Given the description of an element on the screen output the (x, y) to click on. 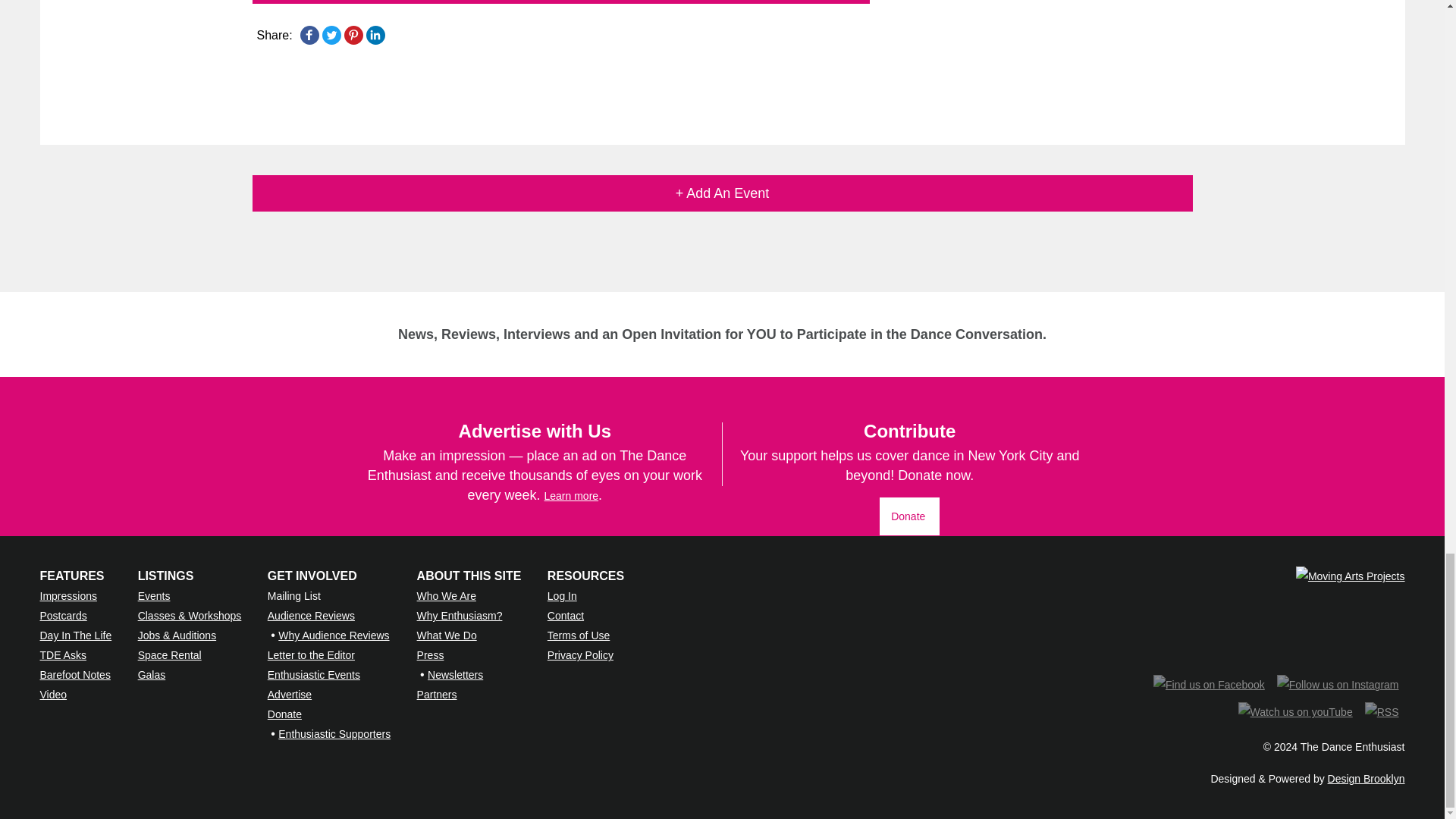
LinkedIn (375, 34)
Facebook (309, 34)
Twitter (331, 34)
Pinterest (353, 34)
